Given the description of an element on the screen output the (x, y) to click on. 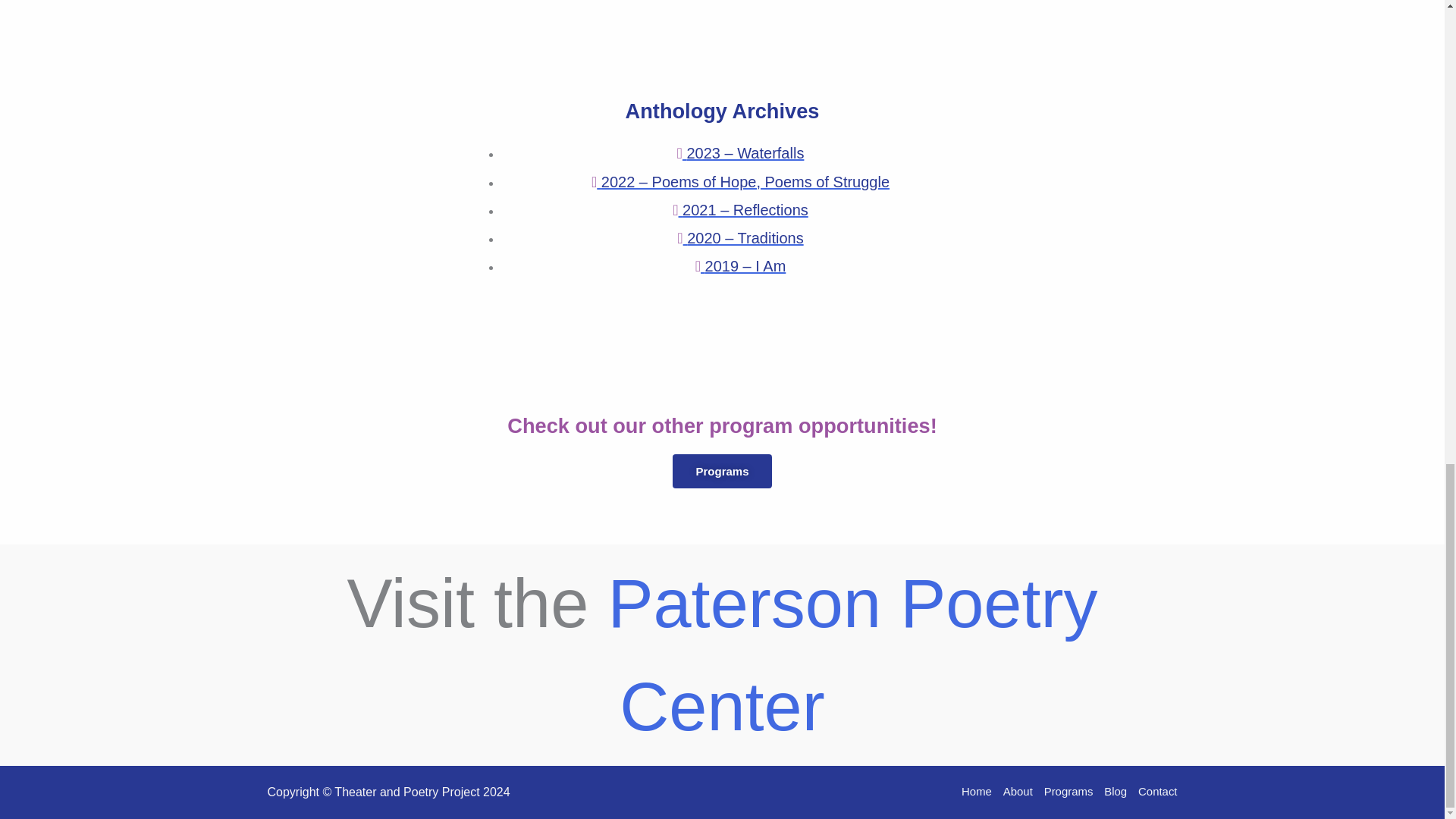
Programs (721, 471)
Programs (1068, 791)
Paterson Poetry Center (852, 654)
Contact (1154, 791)
Home (978, 791)
Blog (1115, 791)
About (1017, 791)
